Given the description of an element on the screen output the (x, y) to click on. 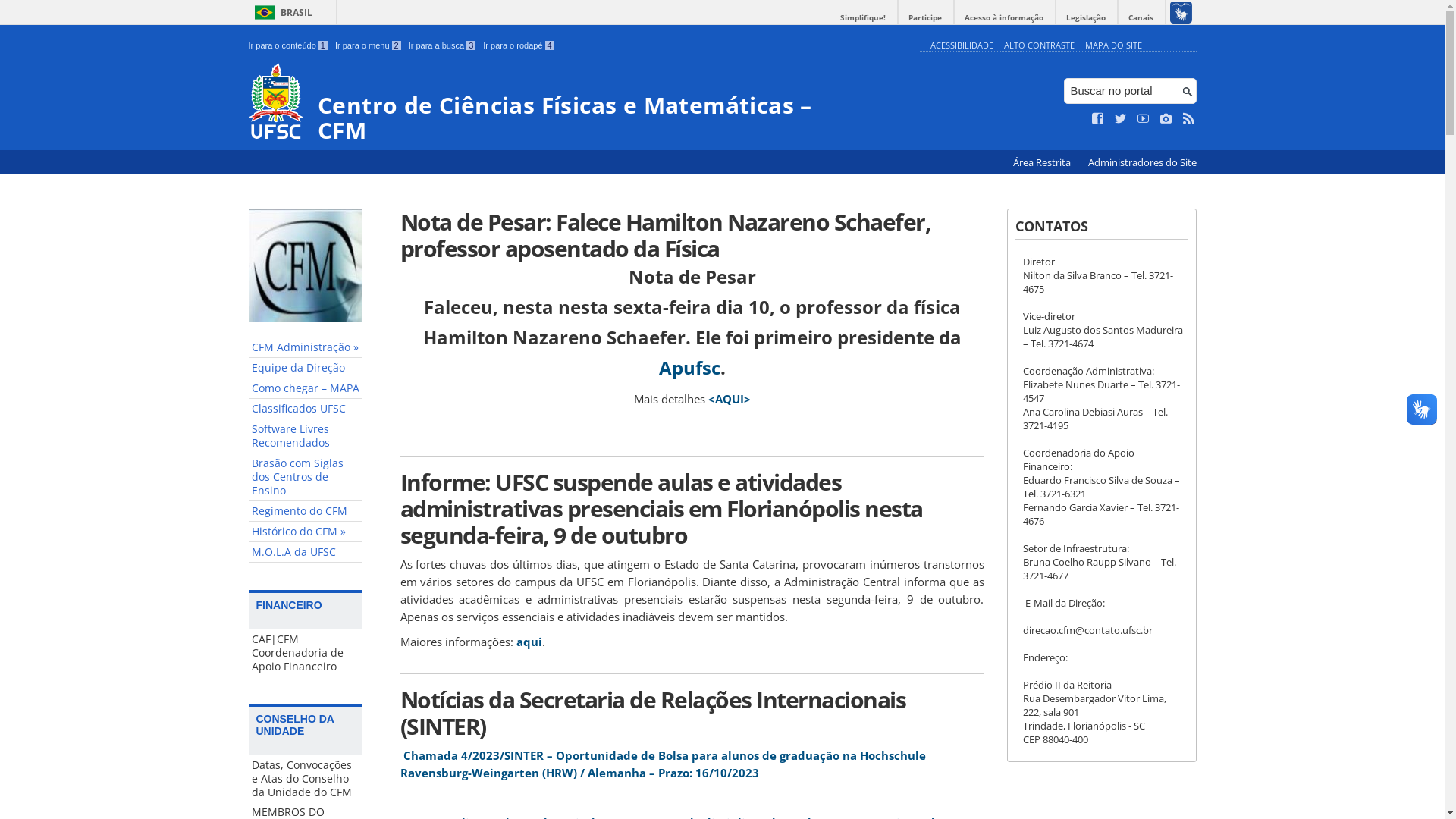
ACESSIBILIDADE Element type: text (960, 44)
Participe Element type: text (924, 18)
Apufsc Element type: text (688, 366)
Curta no Facebook Element type: hover (1098, 118)
Classificados UFSC Element type: text (305, 408)
MAPA DO SITE Element type: text (1112, 44)
ALTO CONTRASTE Element type: text (1039, 44)
M.O.L.A da UFSC Element type: text (305, 552)
<AQUI> Element type: text (729, 398)
CAF|CFM Coordenadoria de Apoio Financeiro Element type: text (305, 652)
Regimento do CFM Element type: text (305, 511)
Siga no Twitter Element type: hover (1120, 118)
Administradores do Site Element type: text (1141, 162)
Simplifique! Element type: text (862, 18)
Ir para a busca 3 Element type: text (442, 45)
aqui Element type: text (528, 641)
Software Livres Recomendados Element type: text (305, 436)
Ir para o menu 2 Element type: text (368, 45)
Canais Element type: text (1140, 18)
BRASIL Element type: text (280, 12)
Veja no Instagram Element type: hover (1166, 118)
